Given the description of an element on the screen output the (x, y) to click on. 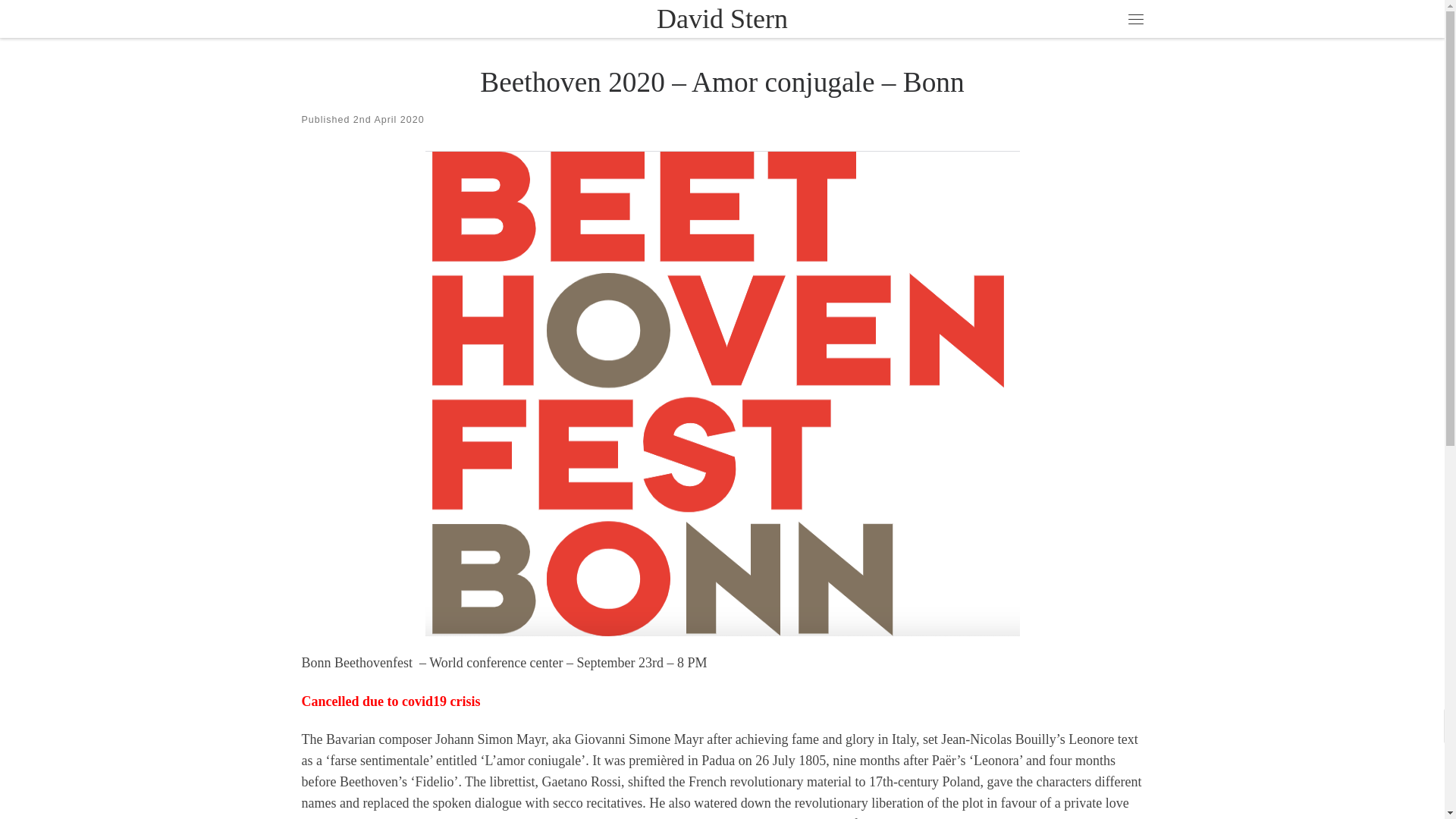
2nd April 2020 (389, 119)
5:11 pm (389, 119)
David Stern (721, 19)
Menu (1135, 18)
Skip to content (60, 20)
